Given the description of an element on the screen output the (x, y) to click on. 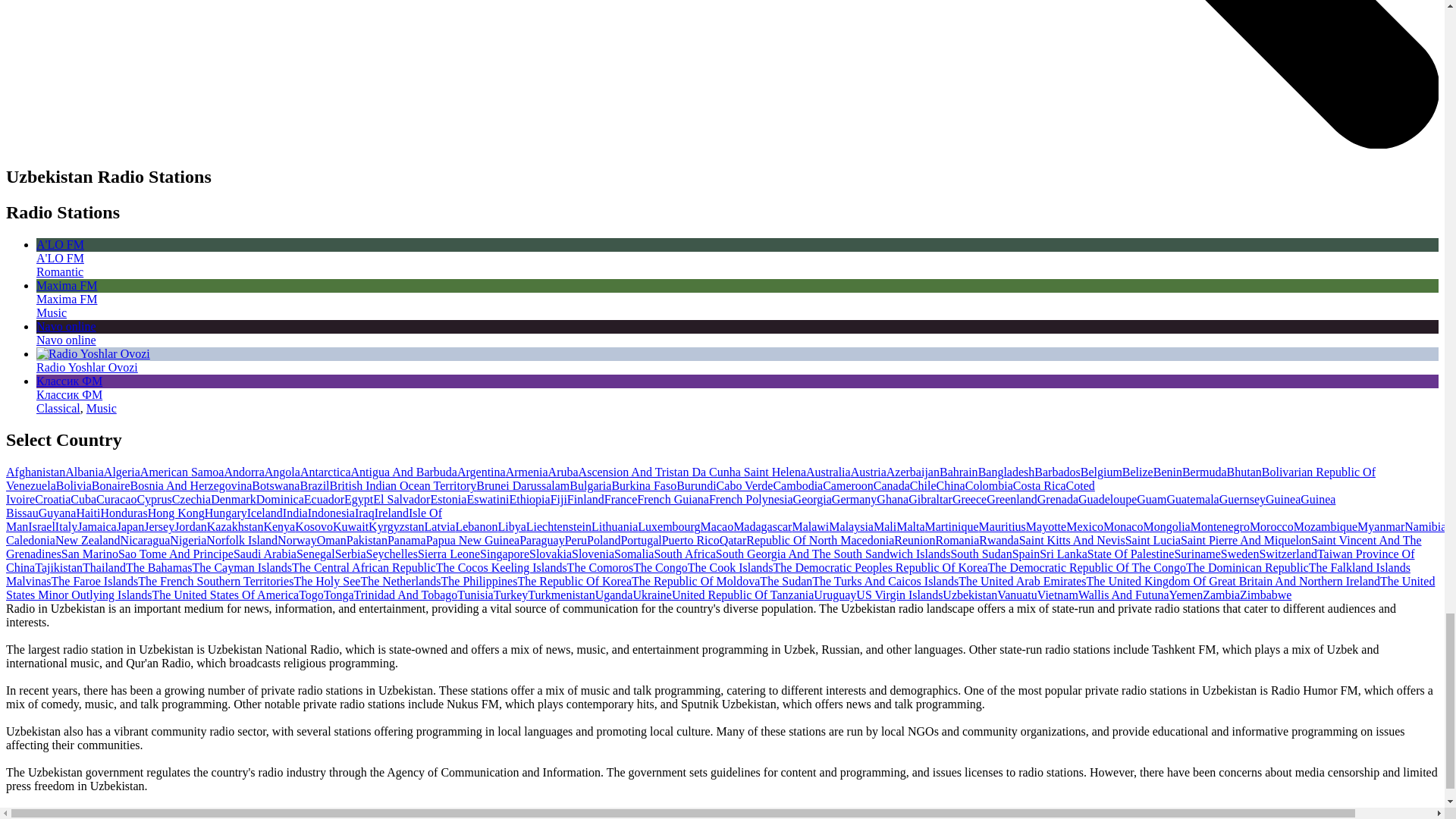
Albania (84, 472)
Azerbaijan (912, 472)
Belize (1137, 472)
American Samoa (181, 472)
Ascension And Tristan Da Cunha Saint Helena (692, 472)
Antigua And Barbuda (403, 472)
Algeria (121, 472)
American Samoa (181, 472)
Austria (868, 472)
Radio Yoshlar Ovozi (87, 367)
Armenia (526, 472)
Andorra (243, 472)
A'LO FM (737, 251)
Classical (58, 408)
Romantic (59, 271)
